Given the description of an element on the screen output the (x, y) to click on. 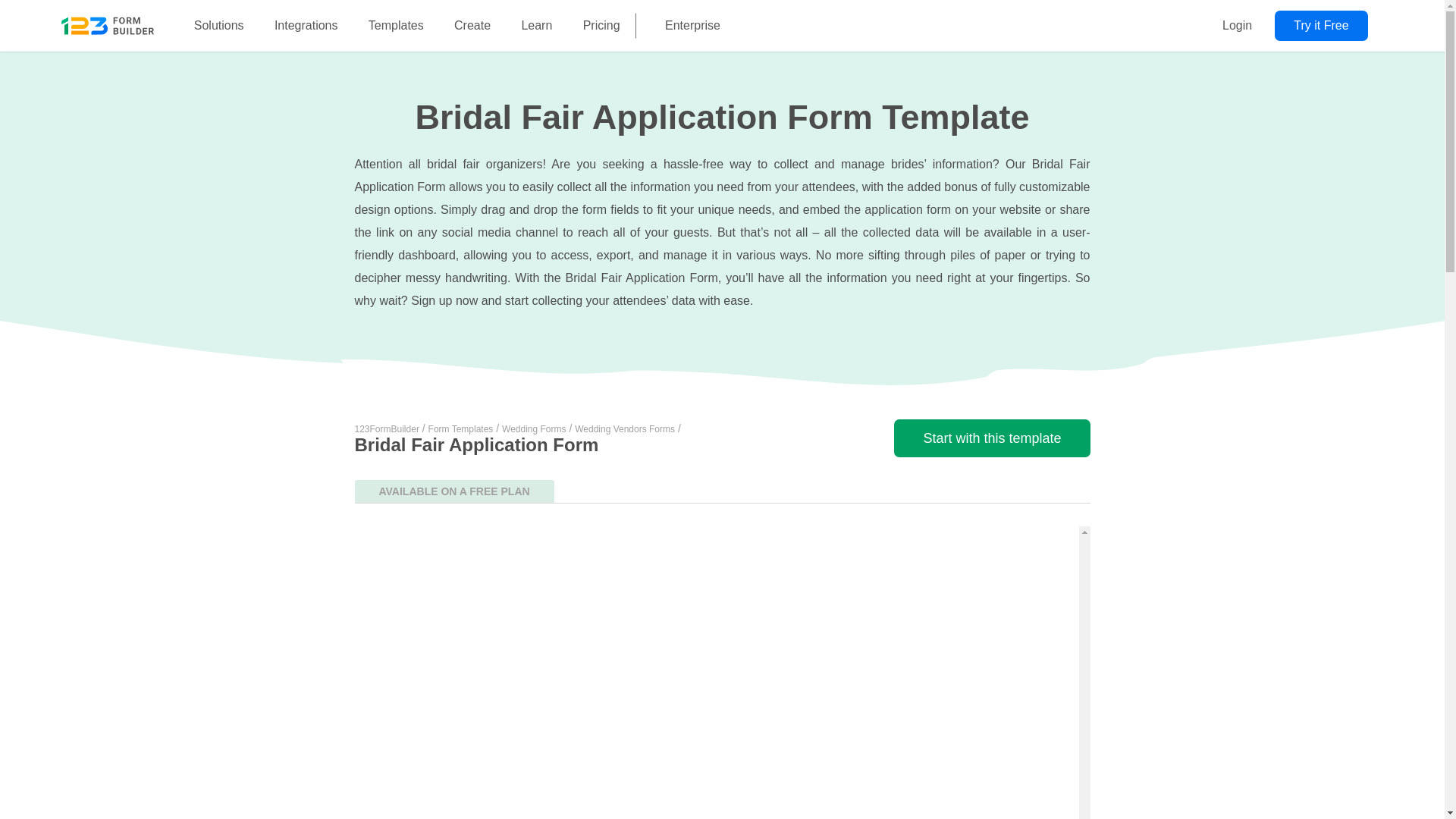
Login to your account (1236, 25)
Solutions (219, 25)
Integrations (306, 25)
